Given the description of an element on the screen output the (x, y) to click on. 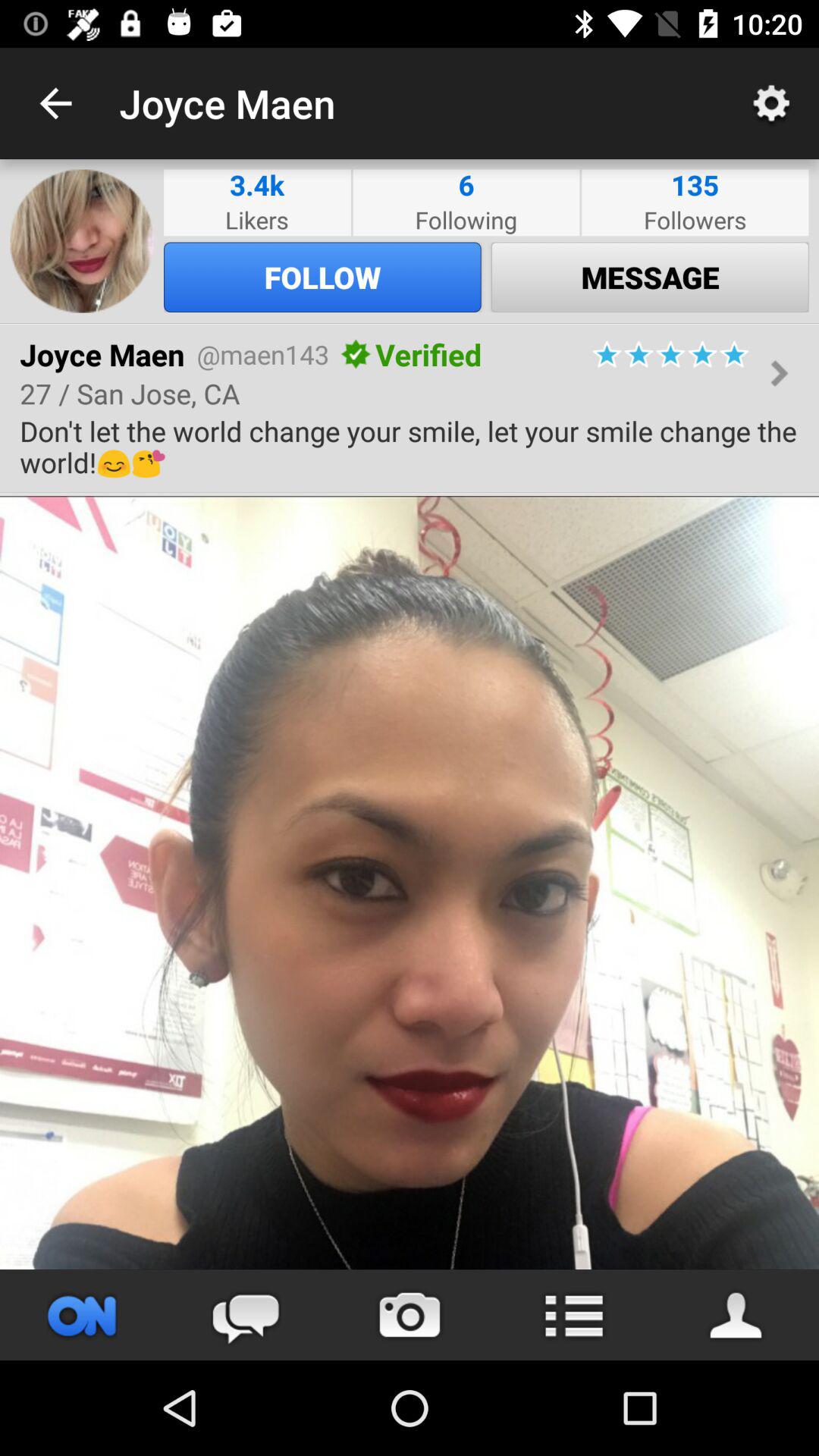
open comments (245, 1315)
